Given the description of an element on the screen output the (x, y) to click on. 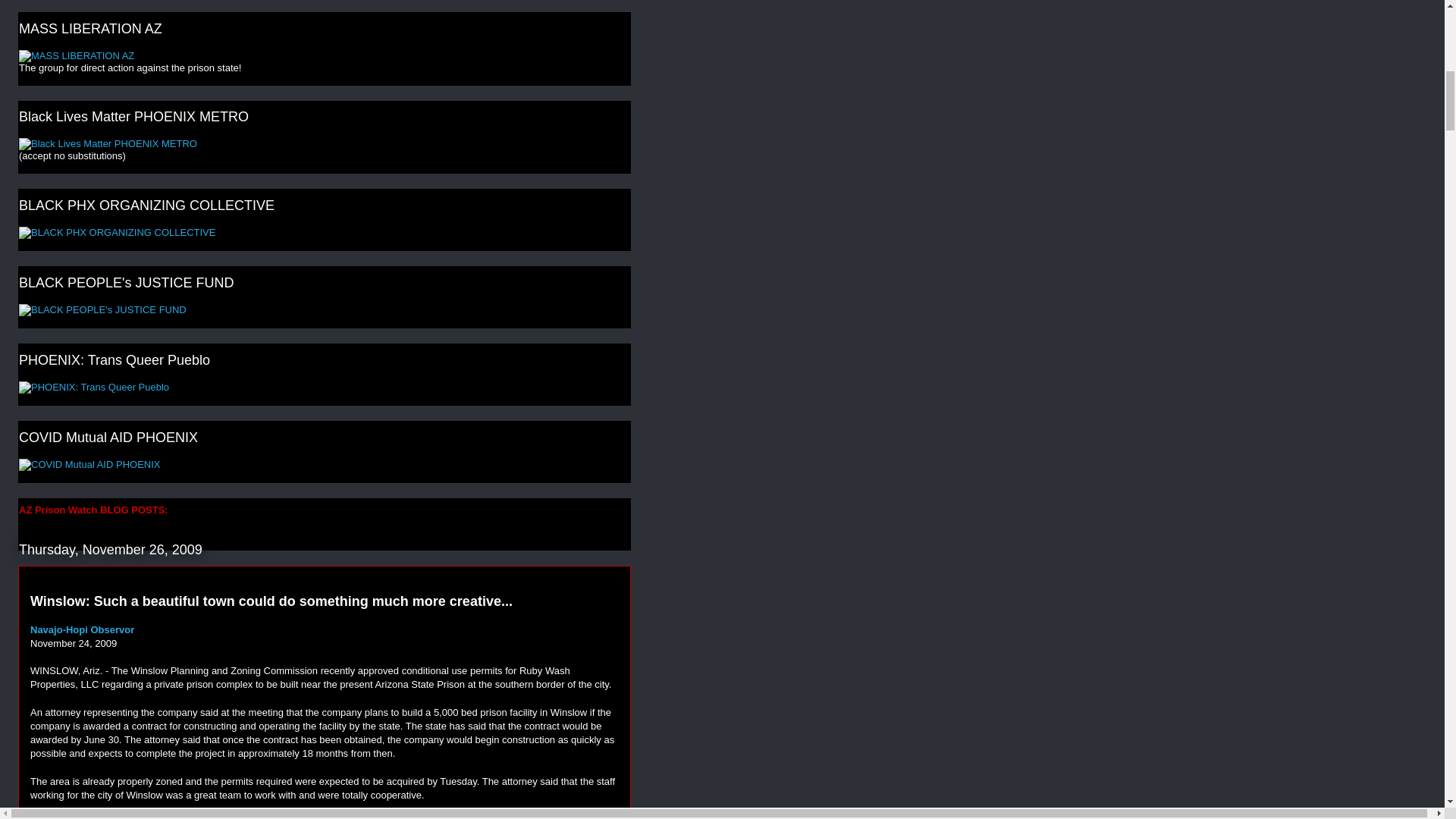
Navajo-Hopi Observor (81, 629)
